Given the description of an element on the screen output the (x, y) to click on. 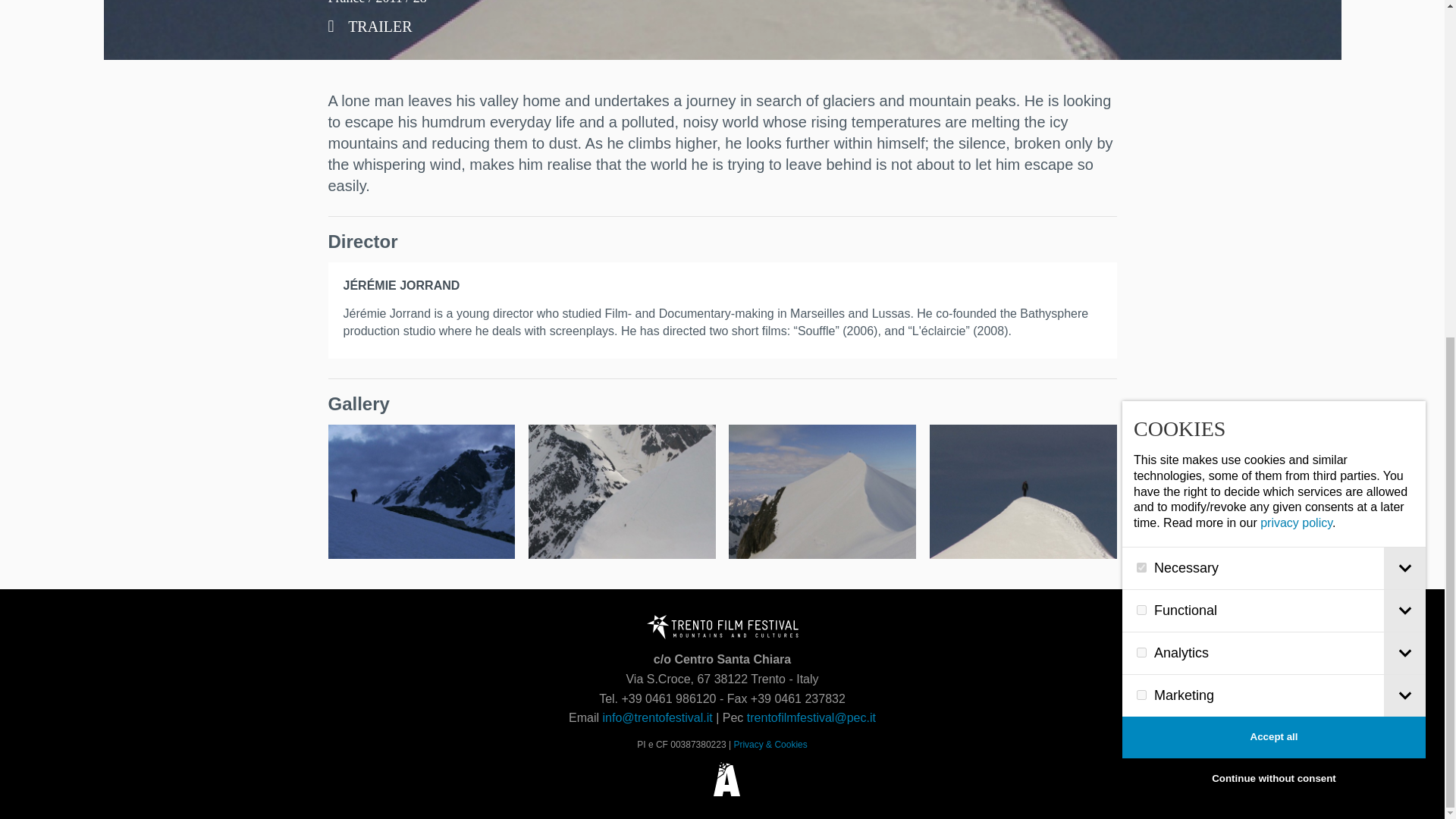
marketing (1142, 126)
functional (1142, 40)
necessary (1142, 2)
BLANCHE (622, 492)
BLANCHE (822, 492)
Accept all (1273, 168)
TRAILER (369, 26)
BLANCHE (369, 26)
BLANCHE (421, 492)
analytics (1142, 83)
